Given the description of an element on the screen output the (x, y) to click on. 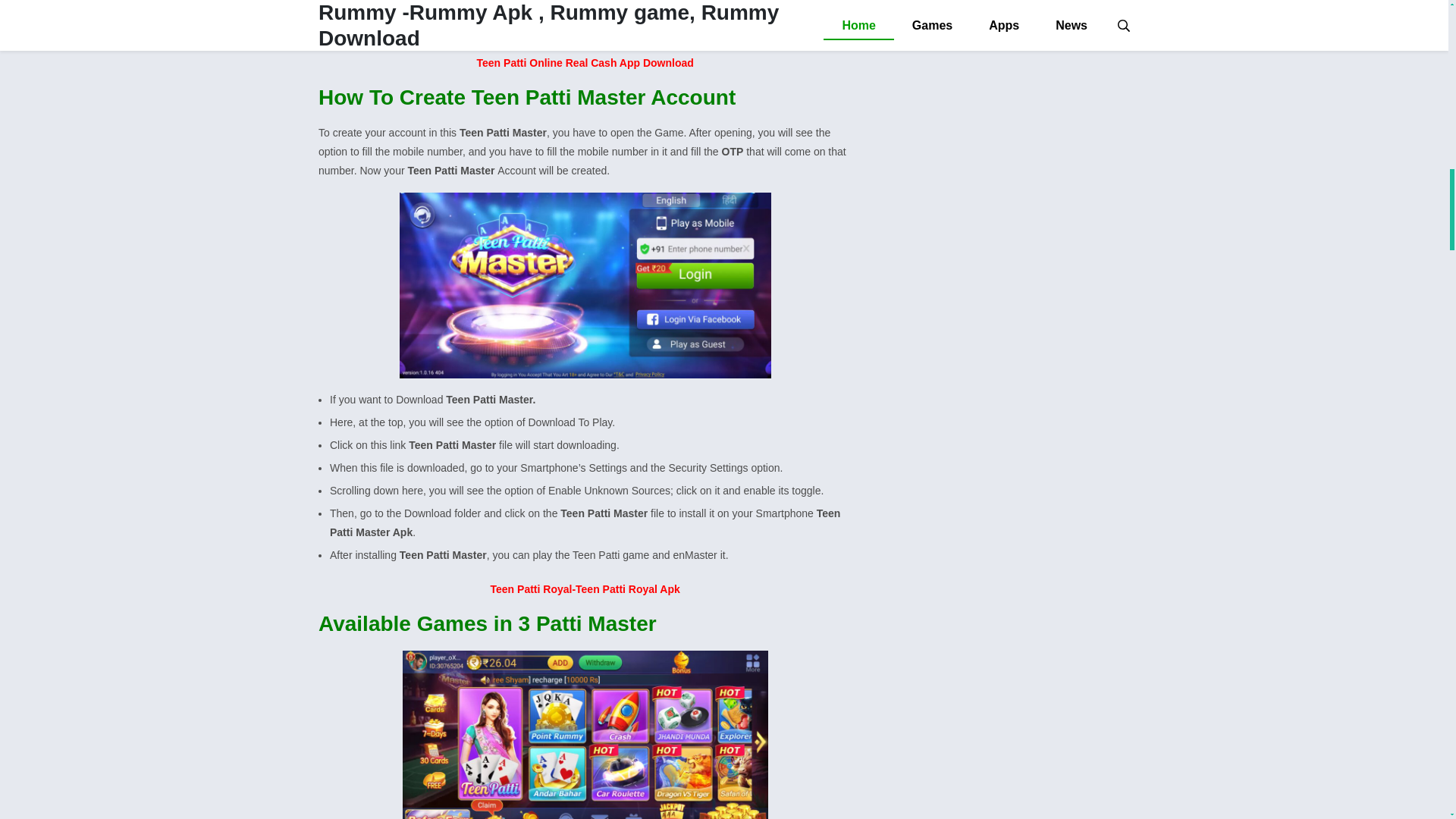
Teen Patti Online Real Cash App Download (585, 62)
Teen Patti Royal-Teen Patti Royal Apk (584, 589)
